Given the description of an element on the screen output the (x, y) to click on. 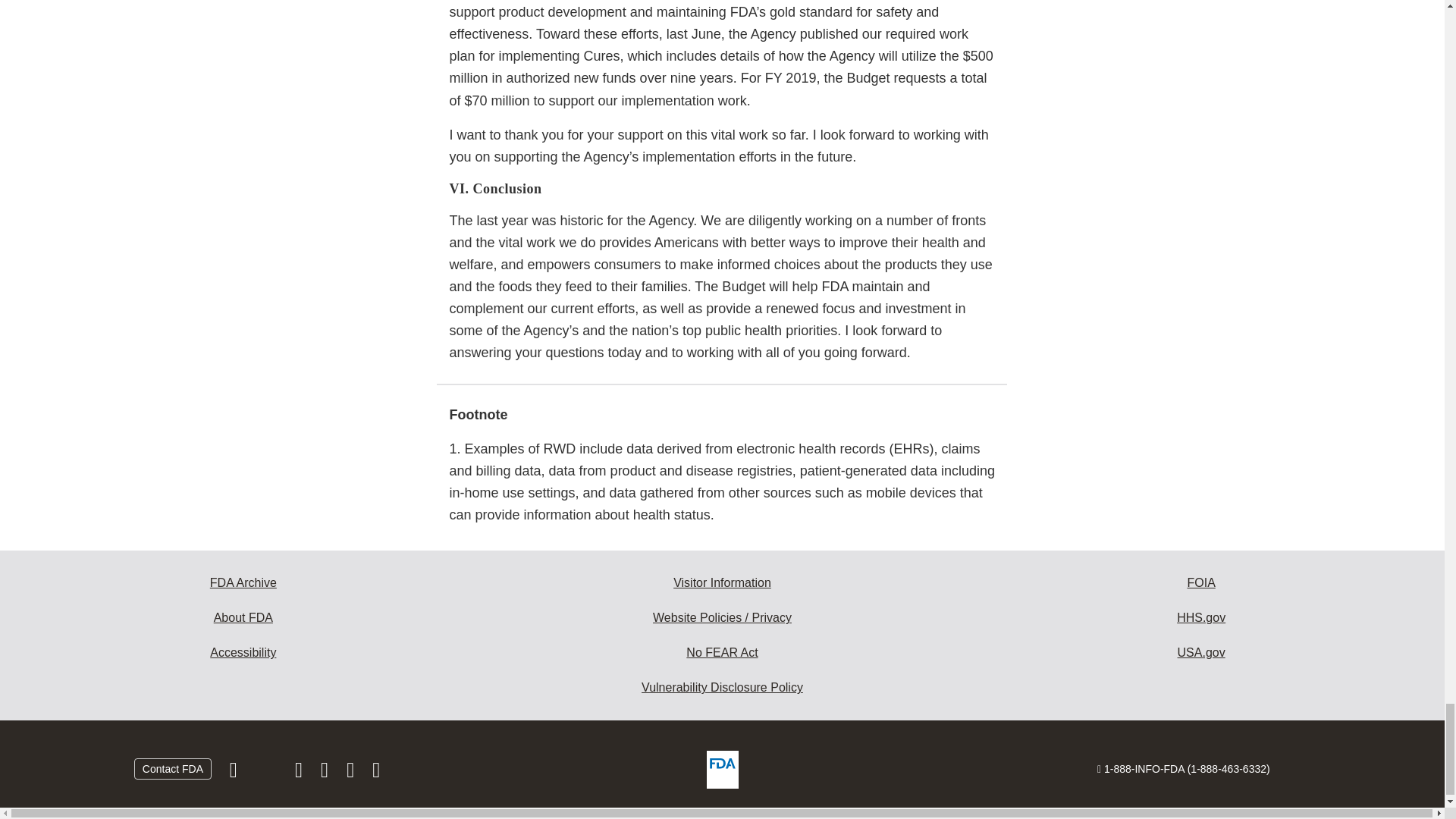
Freedom of Information Act (1200, 582)
Follow FDA on Facebook (234, 772)
Follow FDA on LinkedIn (326, 772)
View FDA videos on YouTube (352, 772)
Subscribe to FDA RSS feeds (376, 772)
Follow FDA on Instagram (299, 772)
Follow FDA on X (266, 772)
Health and Human Services (1200, 617)
